Given the description of an element on the screen output the (x, y) to click on. 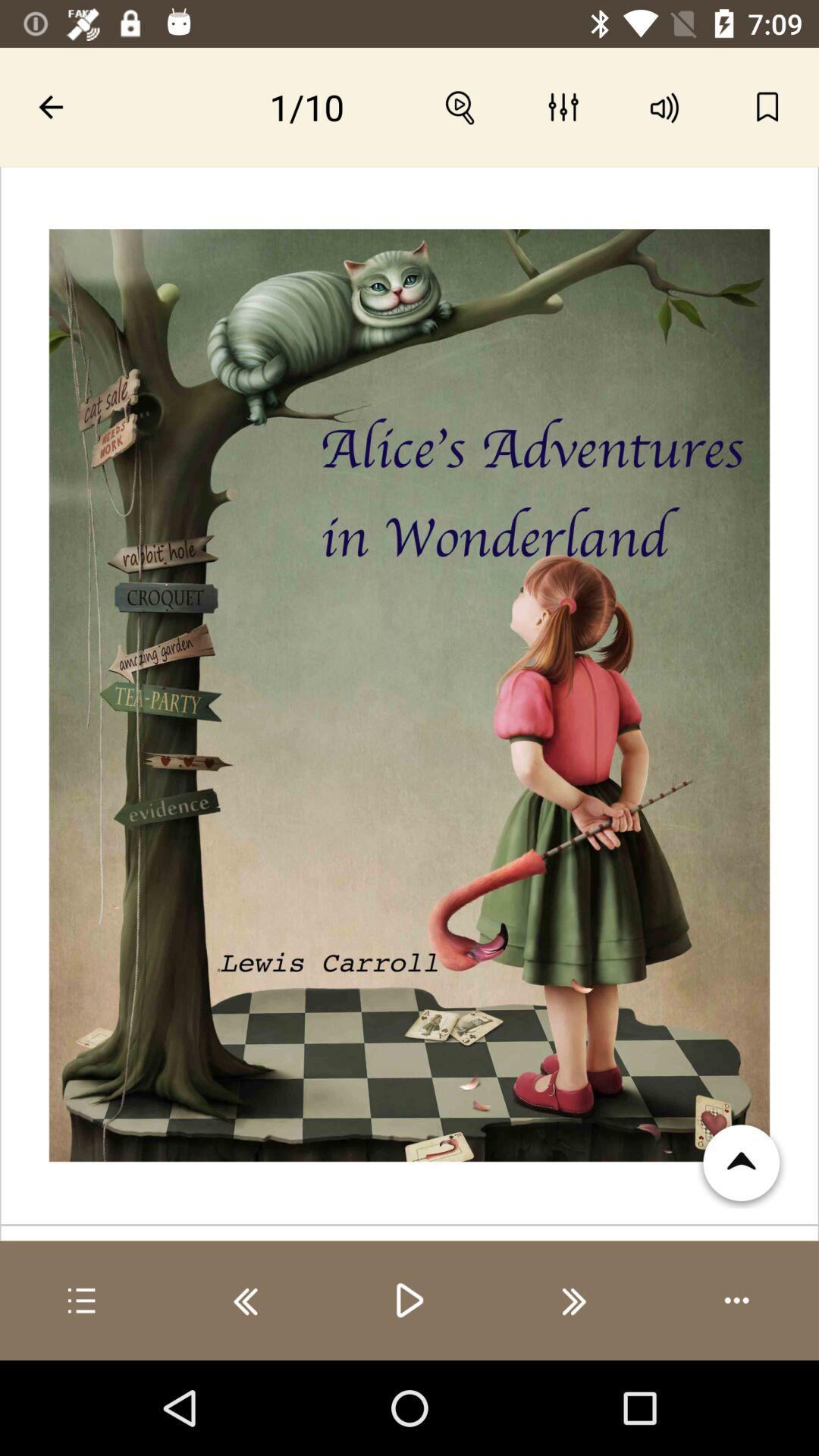
go back (245, 1300)
